Given the description of an element on the screen output the (x, y) to click on. 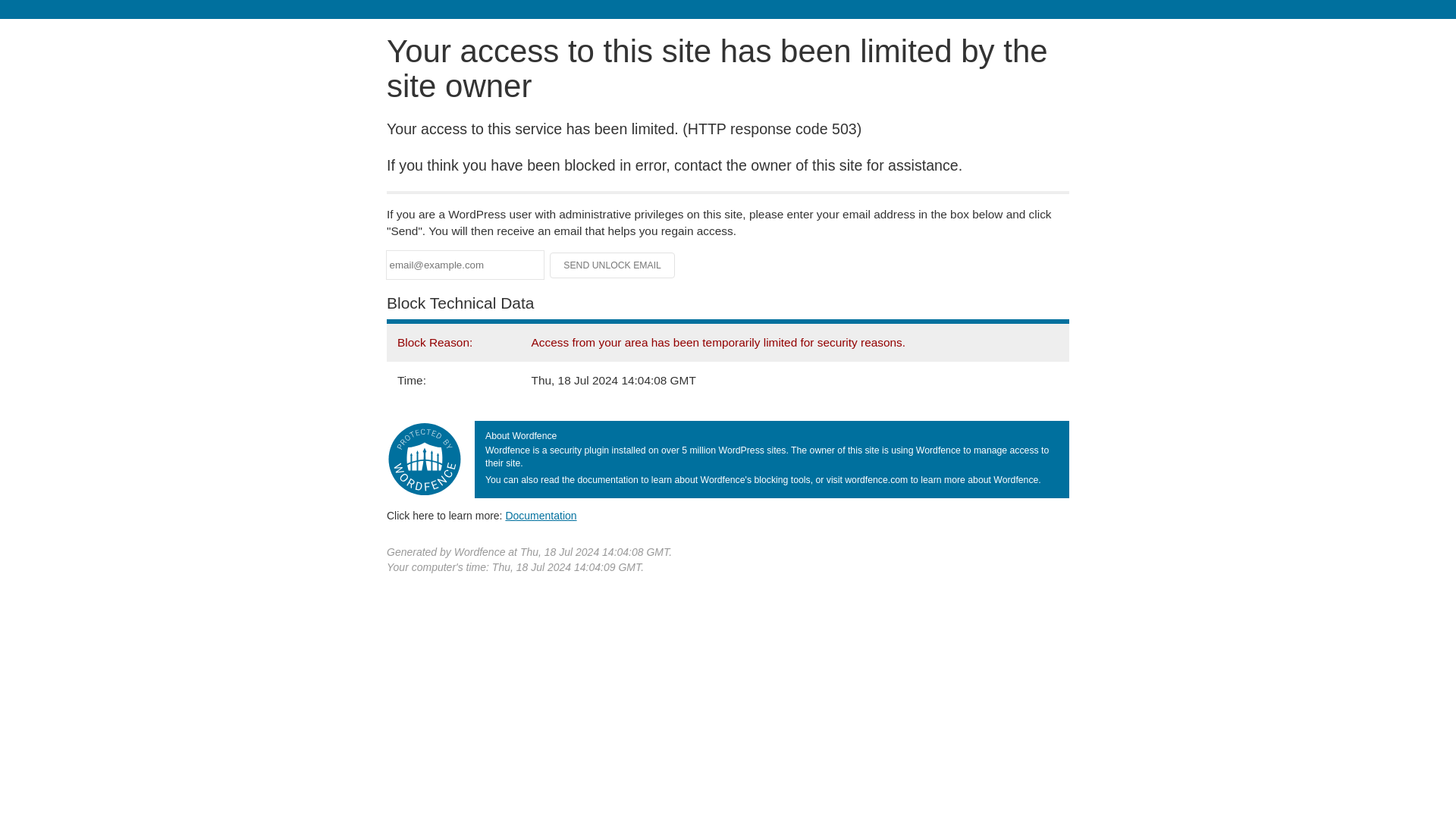
Send Unlock Email (612, 265)
Send Unlock Email (612, 265)
Documentation (540, 515)
